Given the description of an element on the screen output the (x, y) to click on. 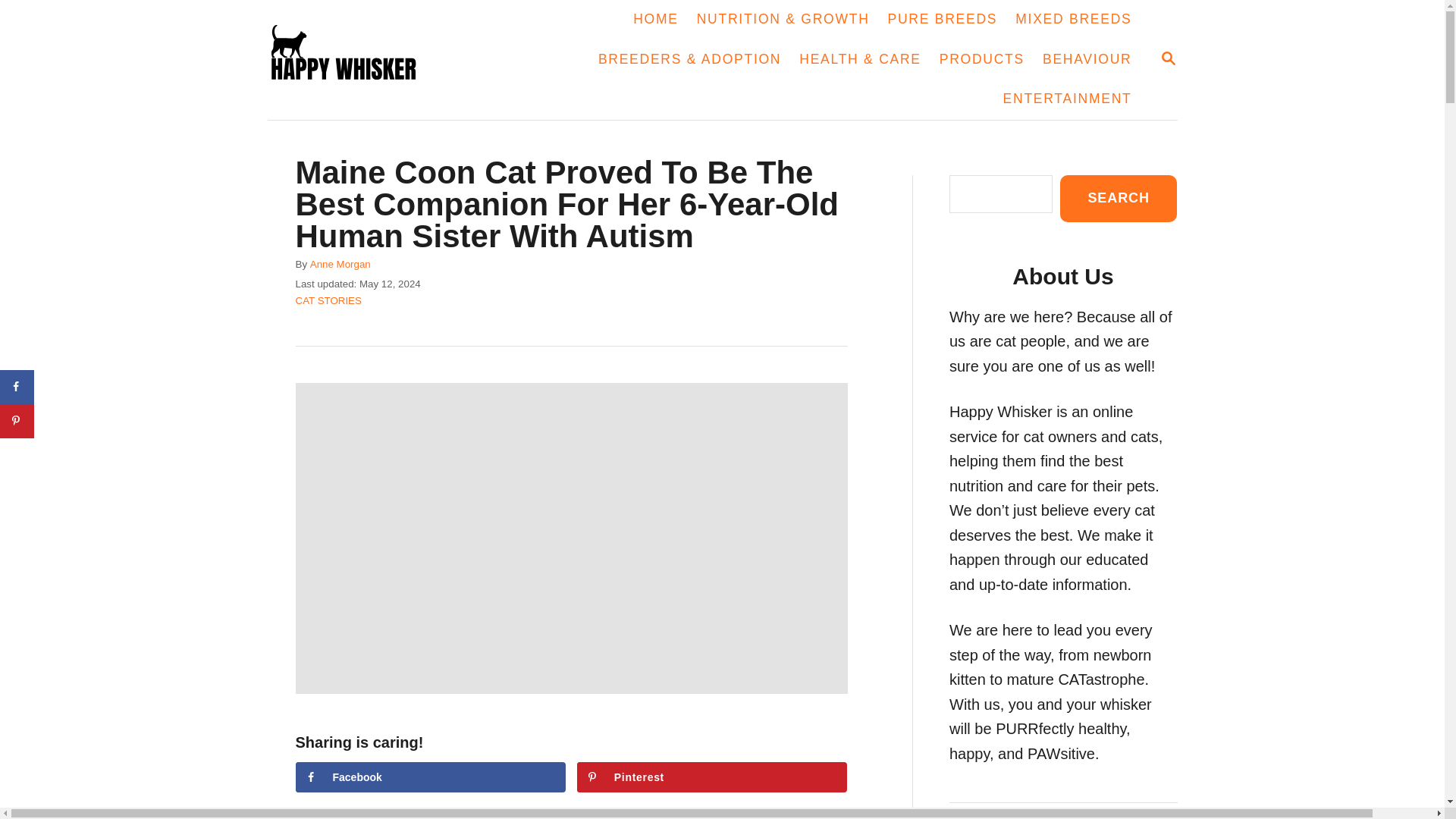
Pinterest (711, 777)
MIXED BREEDS (1073, 19)
CAT STORIES (328, 300)
HOME (655, 19)
Share on Facebook (430, 777)
Save to Pinterest (16, 420)
PRODUCTS (981, 59)
Share on Facebook (16, 387)
SEARCH (1167, 59)
MAGNIFYING GLASS (1117, 197)
Save to Pinterest (1167, 58)
happywhisker (711, 777)
ENTERTAINMENT (355, 59)
Facebook (1067, 99)
